Given the description of an element on the screen output the (x, y) to click on. 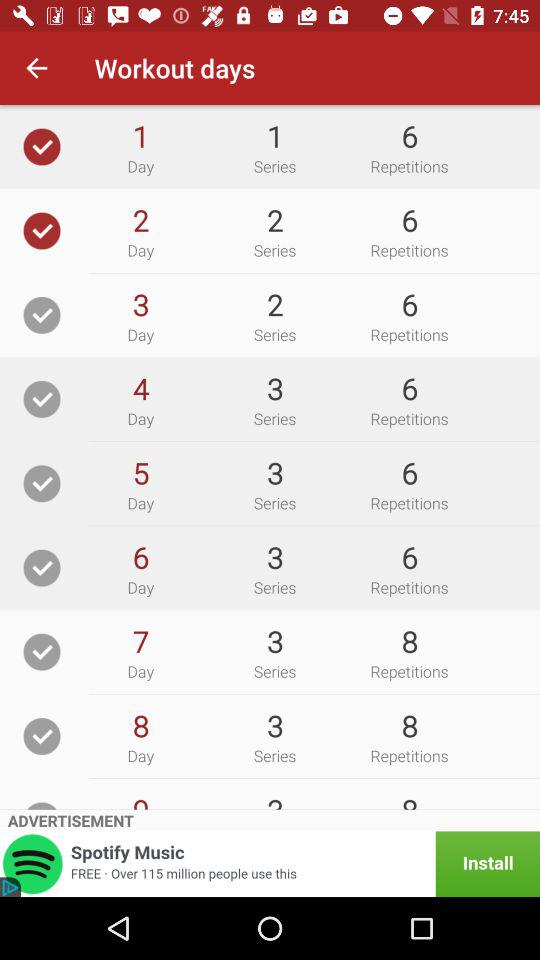
press icon above day (140, 641)
